Given the description of an element on the screen output the (x, y) to click on. 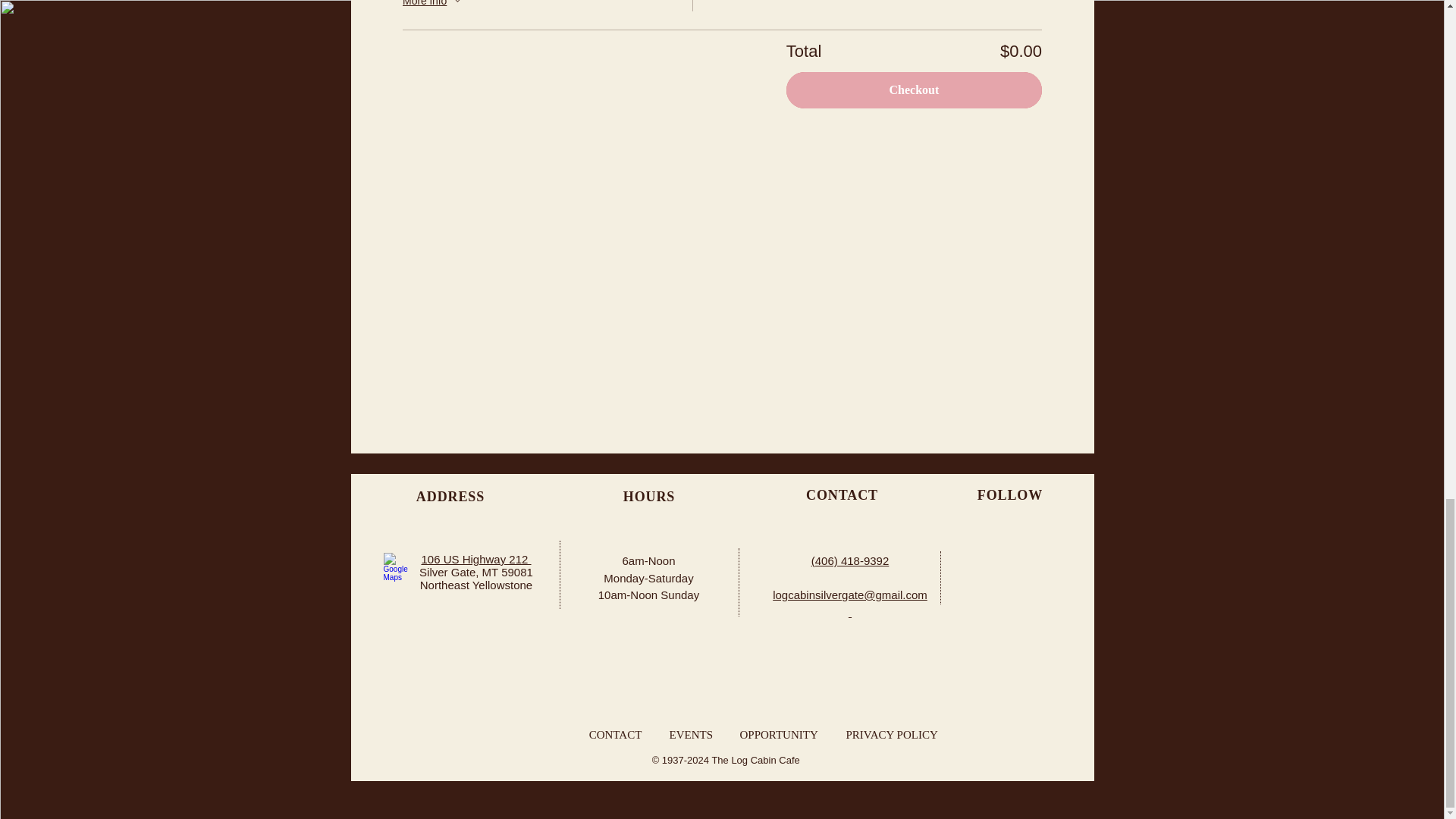
Checkout (914, 90)
106 US Highway 212  (475, 558)
More info (434, 5)
